Given the description of an element on the screen output the (x, y) to click on. 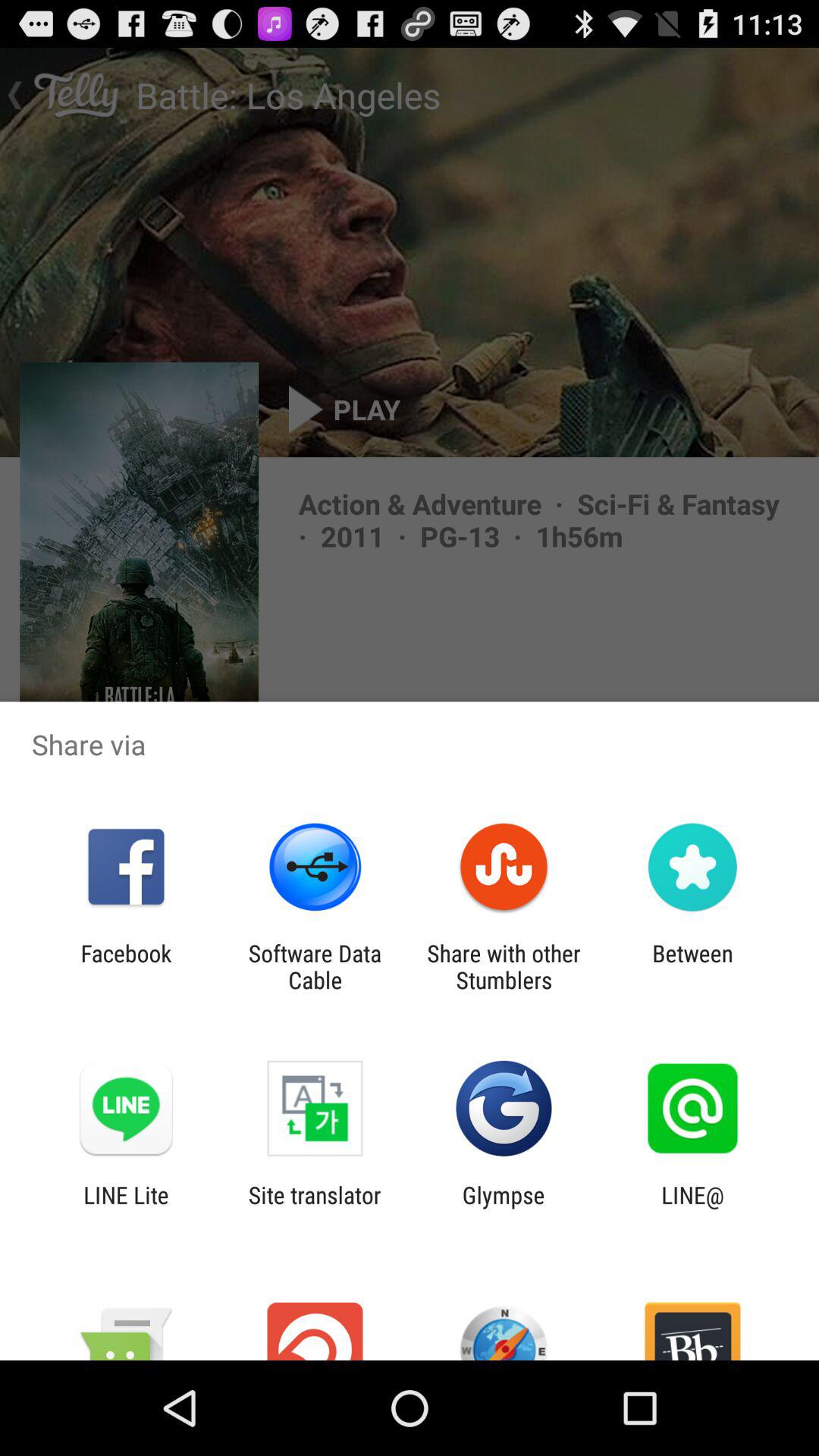
turn off the item next to between (503, 966)
